Given the description of an element on the screen output the (x, y) to click on. 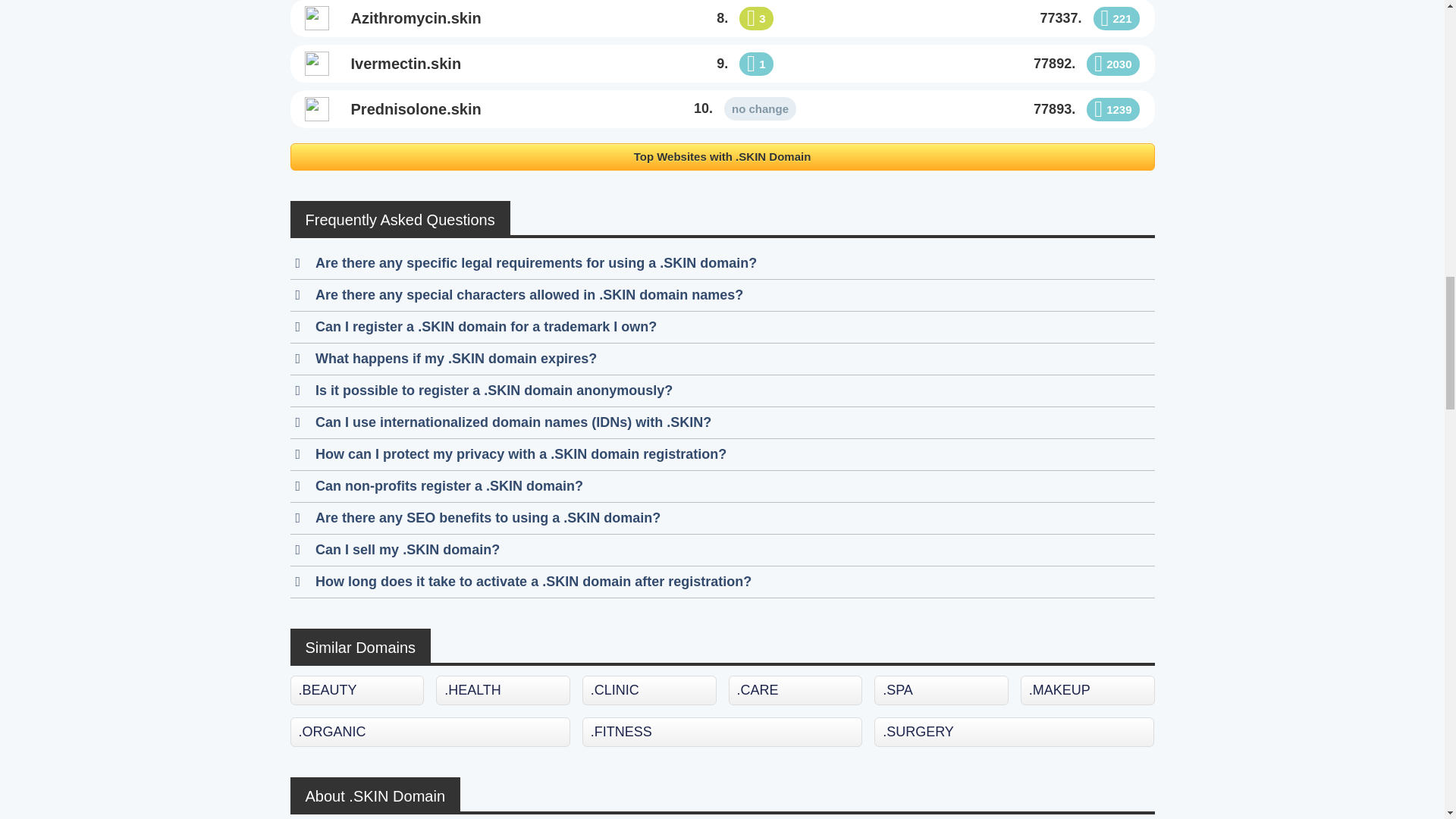
.SURGERY (1014, 731)
.SPA (942, 690)
.CARE (796, 690)
.ORGANIC (429, 731)
.BEAUTY (356, 690)
Top Websites with .SKIN Domain (721, 157)
.CLINIC (649, 690)
.HEALTH (502, 690)
.MAKEUP (1087, 690)
.FITNESS (721, 731)
